Given the description of an element on the screen output the (x, y) to click on. 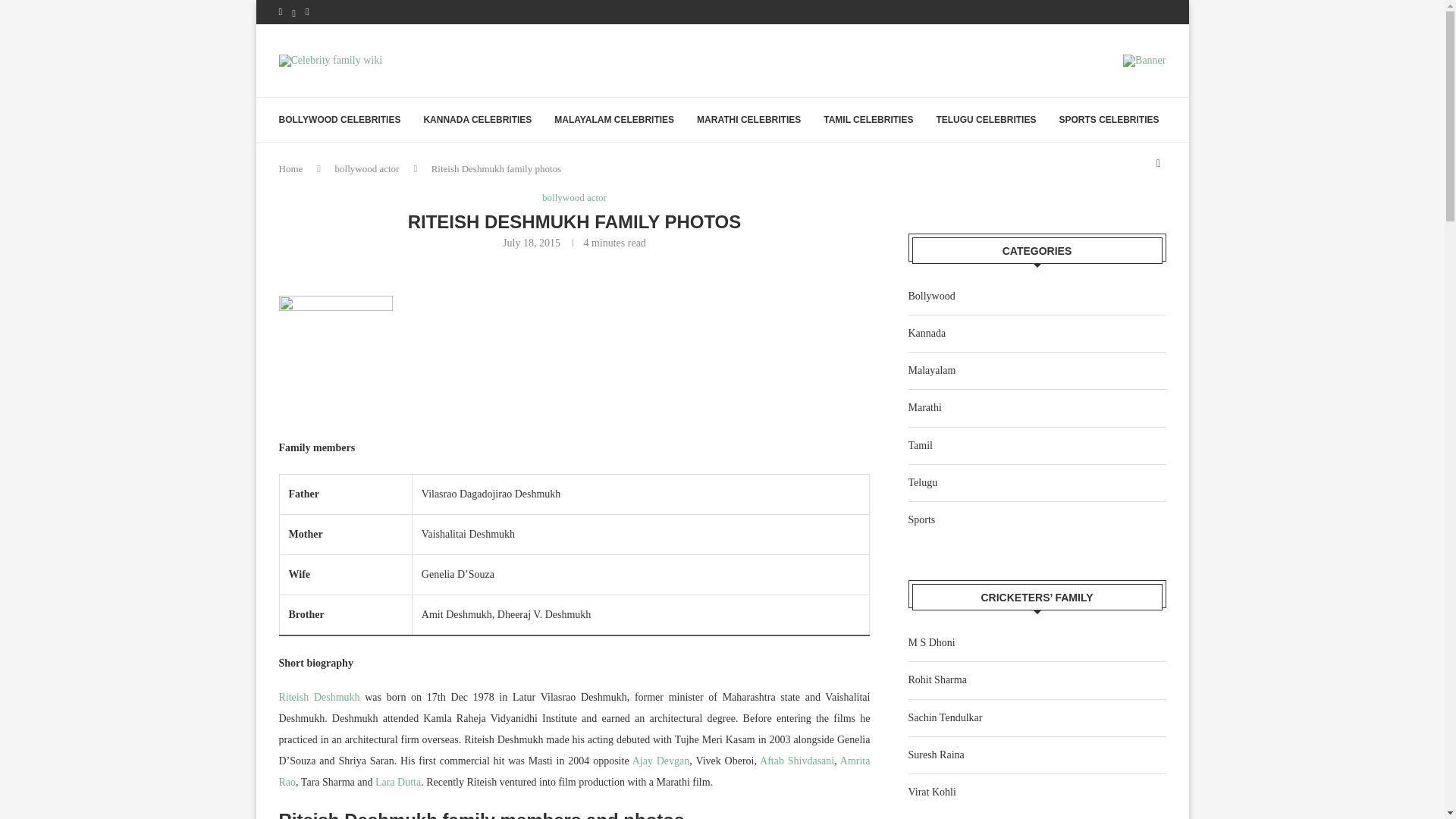
bollywood actor (366, 168)
Amrita Rao (574, 771)
Riteish Deshmukh (319, 696)
bollywood actor (574, 197)
TELUGU CELEBRITIES (985, 119)
TAMIL CELEBRITIES (868, 119)
MARATHI CELEBRITIES (748, 119)
SPORTS CELEBRITIES (1108, 119)
Lara Dutta (397, 781)
BOLLYWOOD CELEBRITIES (340, 119)
Ajay Devgan (660, 760)
Home (290, 168)
KANNADA CELEBRITIES (477, 119)
Aftab Shivdasani (797, 760)
MALAYALAM CELEBRITIES (614, 119)
